Given the description of an element on the screen output the (x, y) to click on. 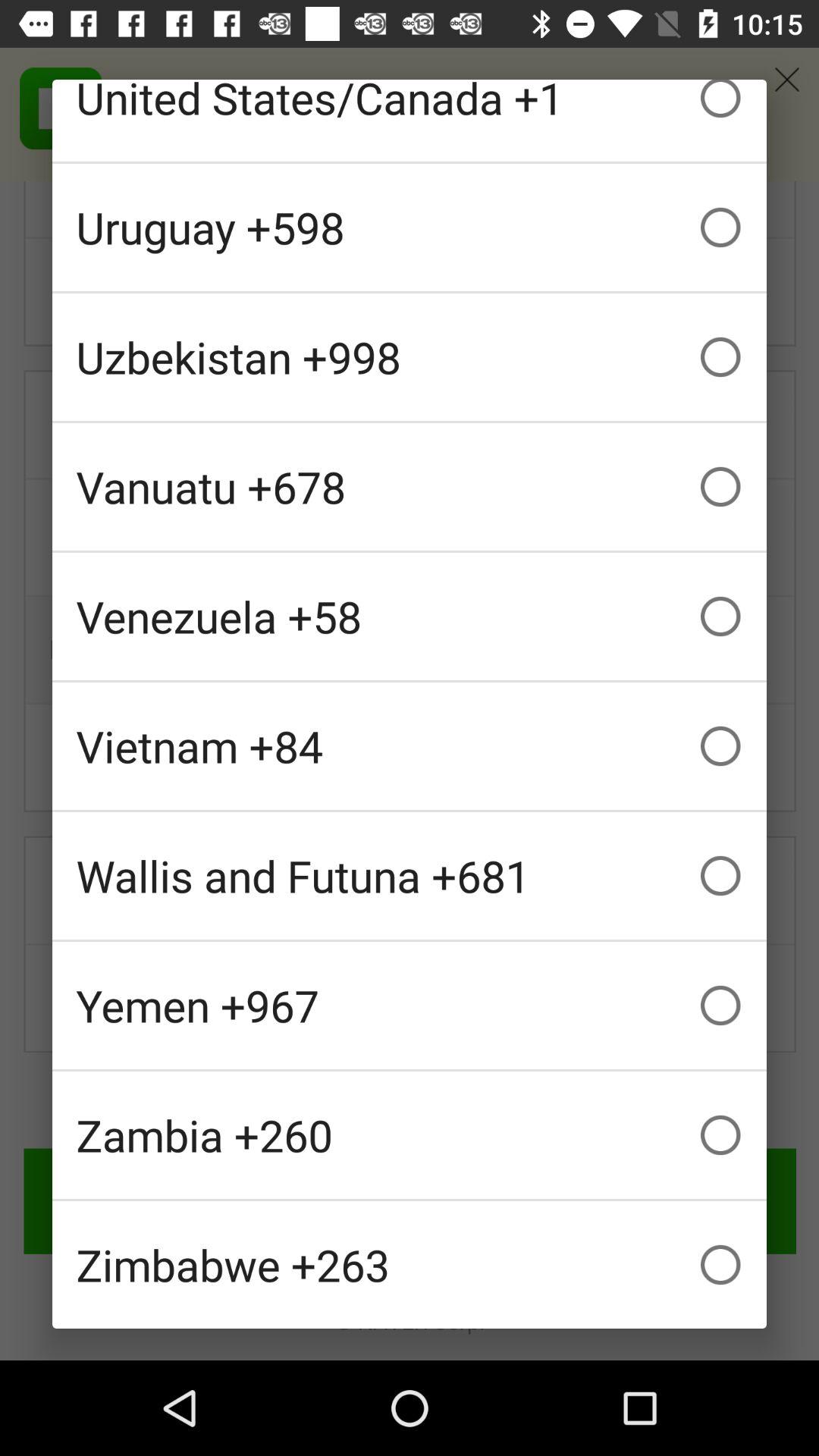
launch item below the zambia +260 checkbox (409, 1264)
